Given the description of an element on the screen output the (x, y) to click on. 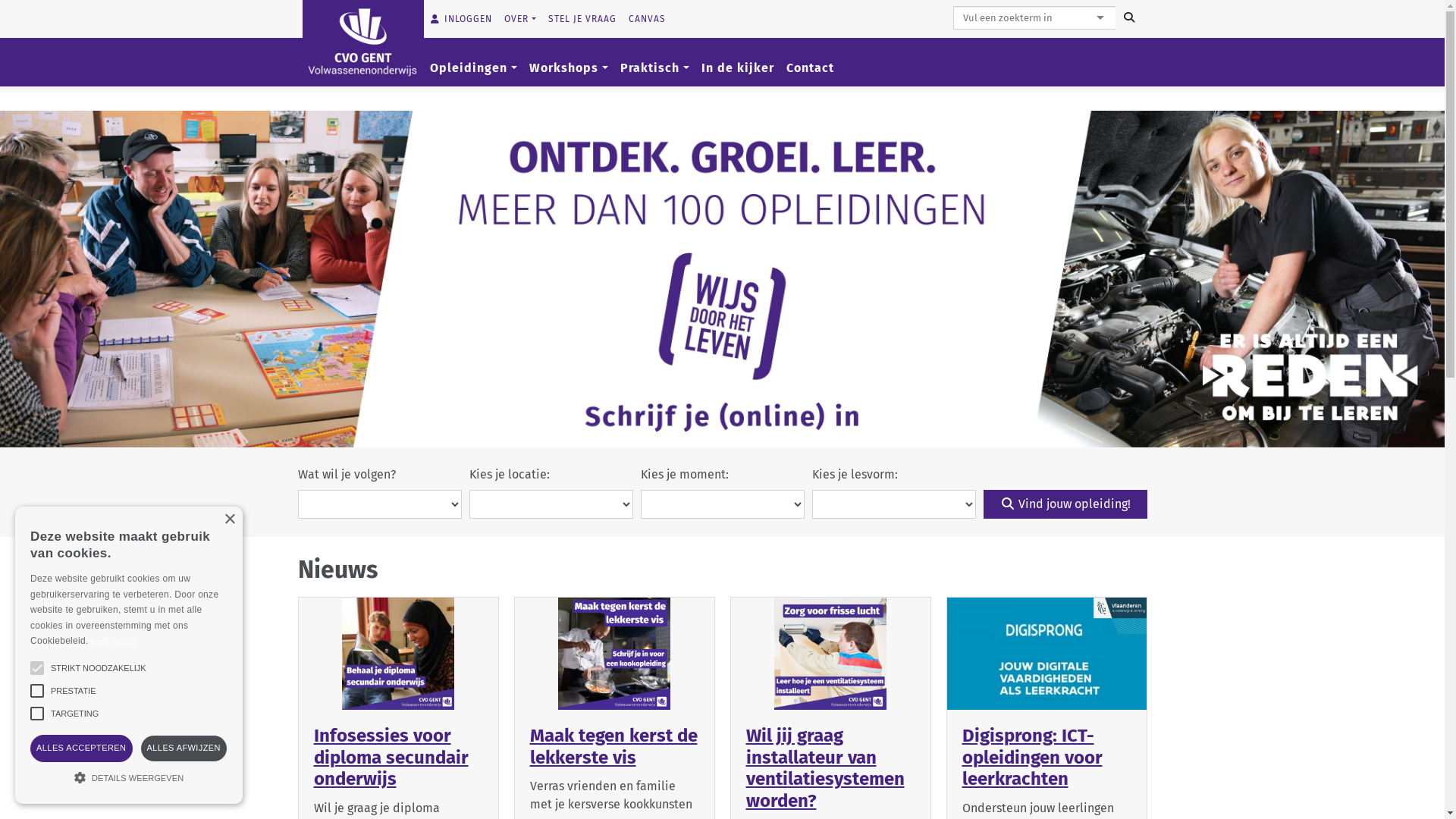
OVER Element type: text (519, 18)
Contact Element type: text (809, 68)
Praktisch Element type: text (654, 68)
Vind jouw opleiding! Element type: text (1064, 503)
Maak tegen kerst de lekkerste vis Element type: text (612, 746)
CANVAS Element type: text (646, 18)
INLOGGEN Element type: text (460, 18)
Opleidingen Element type: text (472, 68)
Wil jij graag installateur van ventilatiesystemen worden? Element type: text (825, 767)
Infosessies voor diploma secundair onderwijs Element type: text (390, 757)
Digisprong: ICT-opleidingen voor leerkrachten Element type: text (1031, 757)
CVO Gent Element type: hover (362, 40)
Lees verder Element type: text (114, 640)
STEL JE VRAAG Element type: text (581, 18)
Workshops Element type: text (568, 68)
In de kijker Element type: text (736, 68)
